Given the description of an element on the screen output the (x, y) to click on. 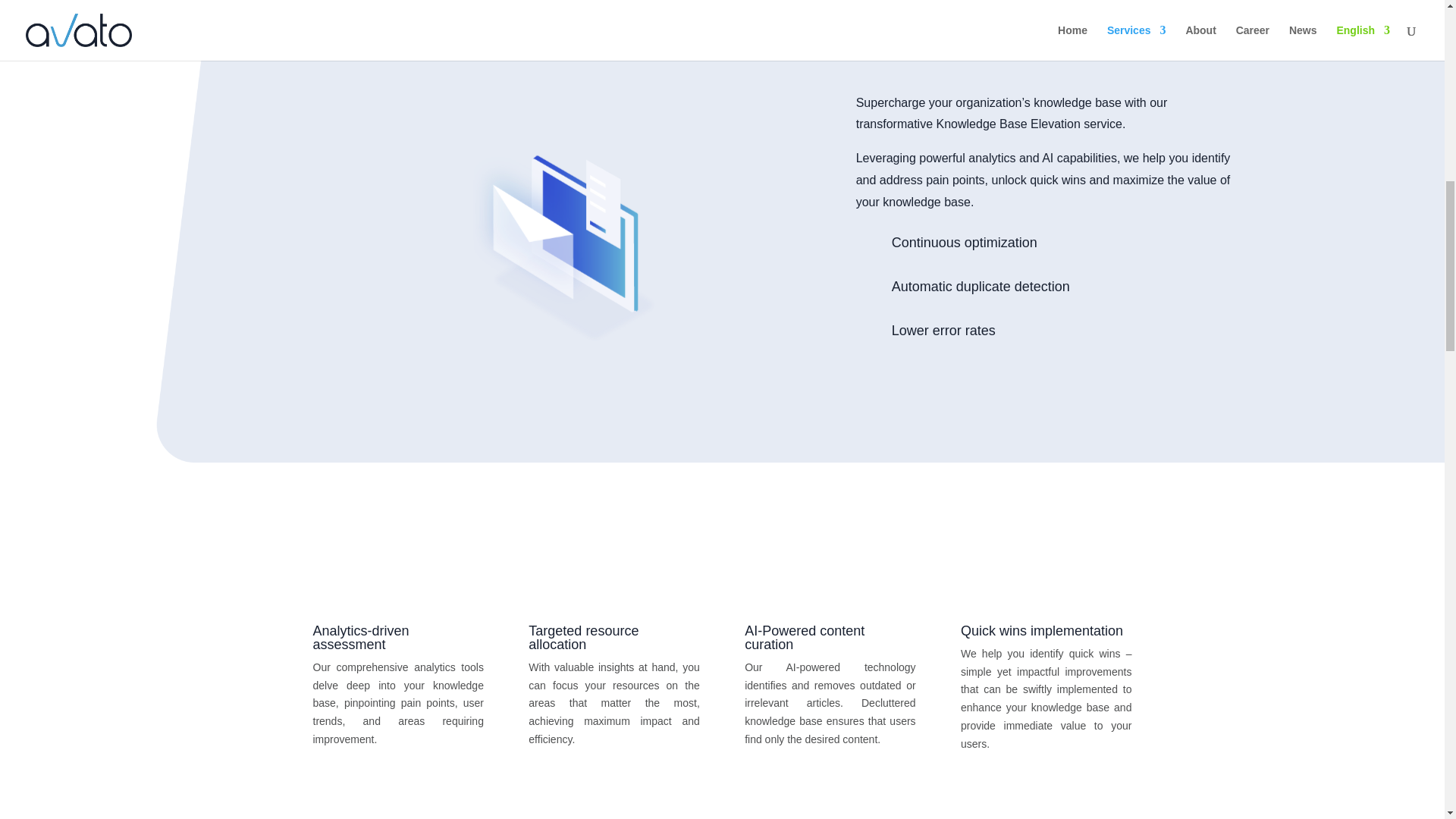
Use Cases (617, 287)
